Given the description of an element on the screen output the (x, y) to click on. 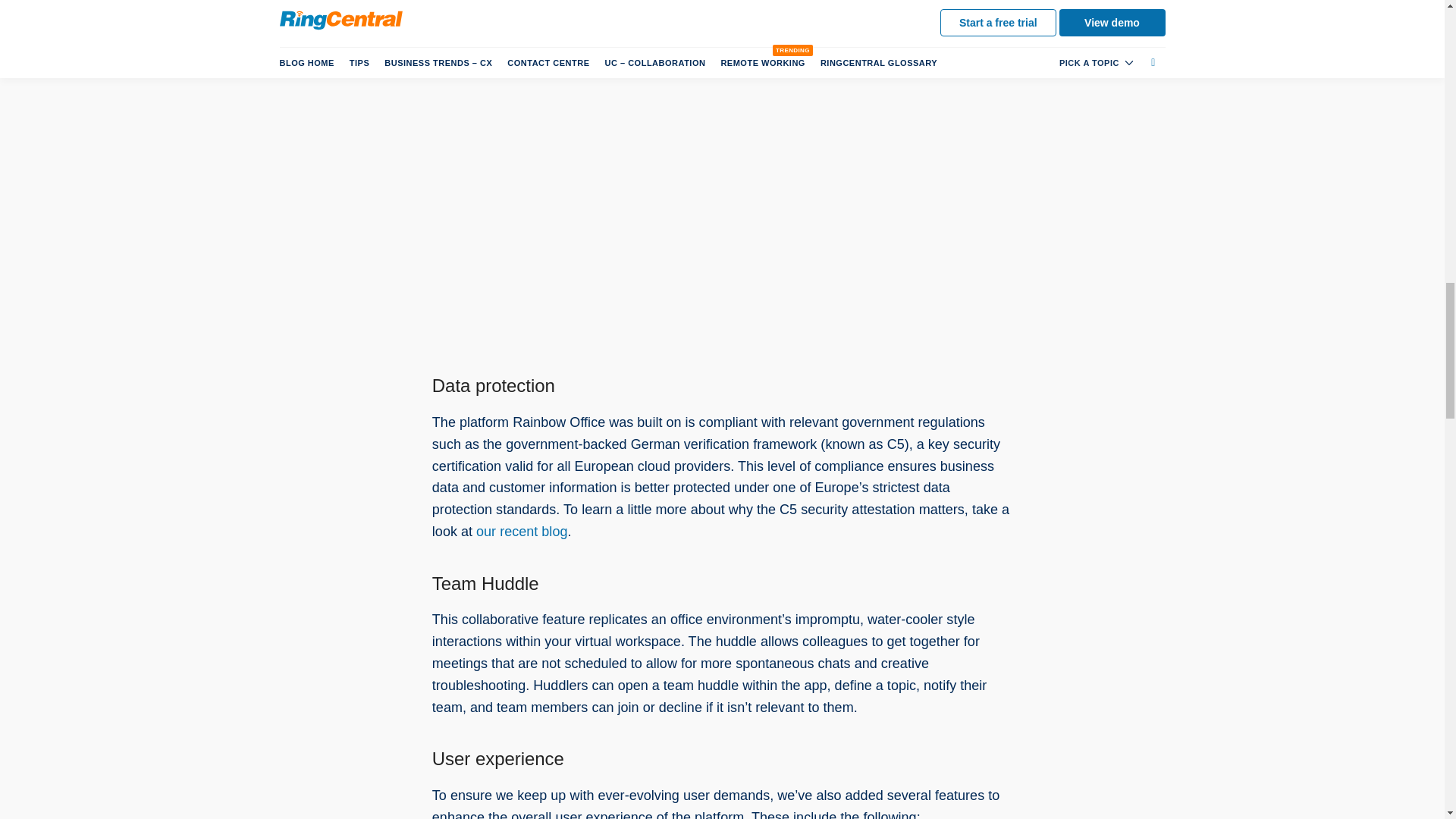
our recent blog (521, 531)
